Given the description of an element on the screen output the (x, y) to click on. 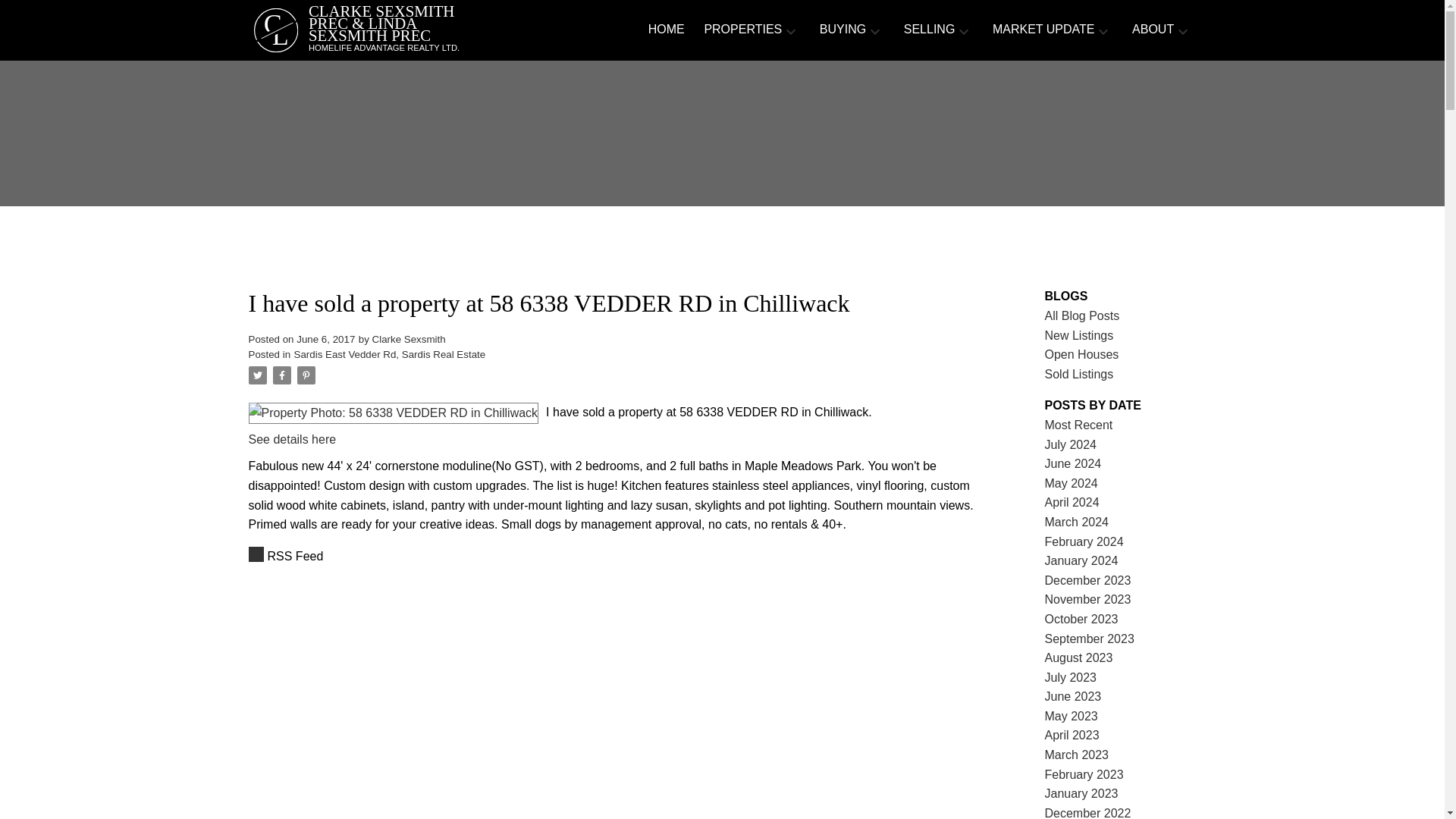
HOME (665, 30)
BUYING (842, 30)
SELLING (929, 30)
ABOUT (1152, 30)
PROPERTIES (742, 30)
